Given the description of an element on the screen output the (x, y) to click on. 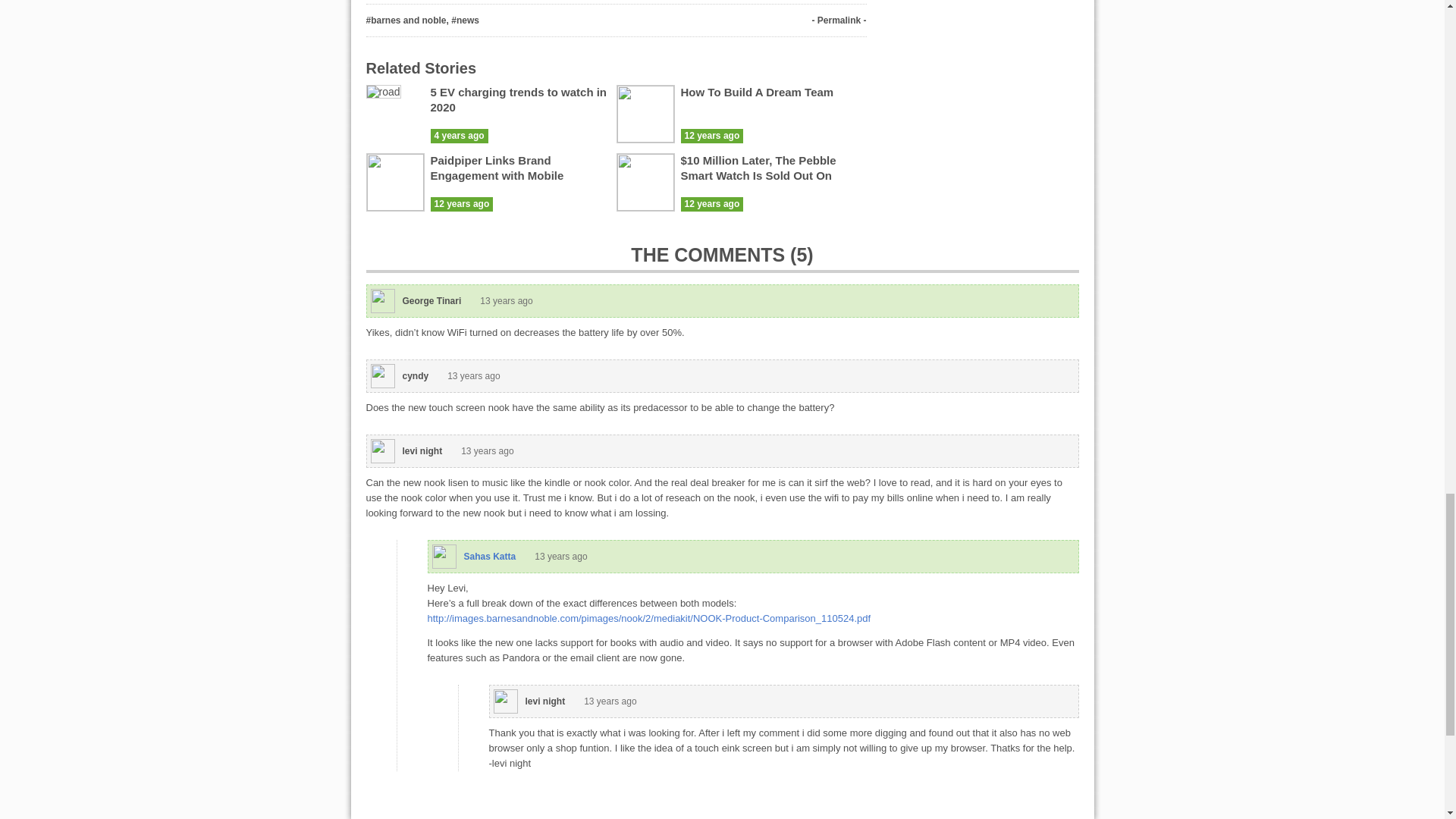
How To Build A Dream Team (757, 91)
Paidpiper Links Brand Engagement with Mobile Payments (497, 175)
news (468, 20)
5 EV charging trends to watch in 2020 (518, 99)
Permalink (838, 20)
barnes and noble (408, 20)
